Given the description of an element on the screen output the (x, y) to click on. 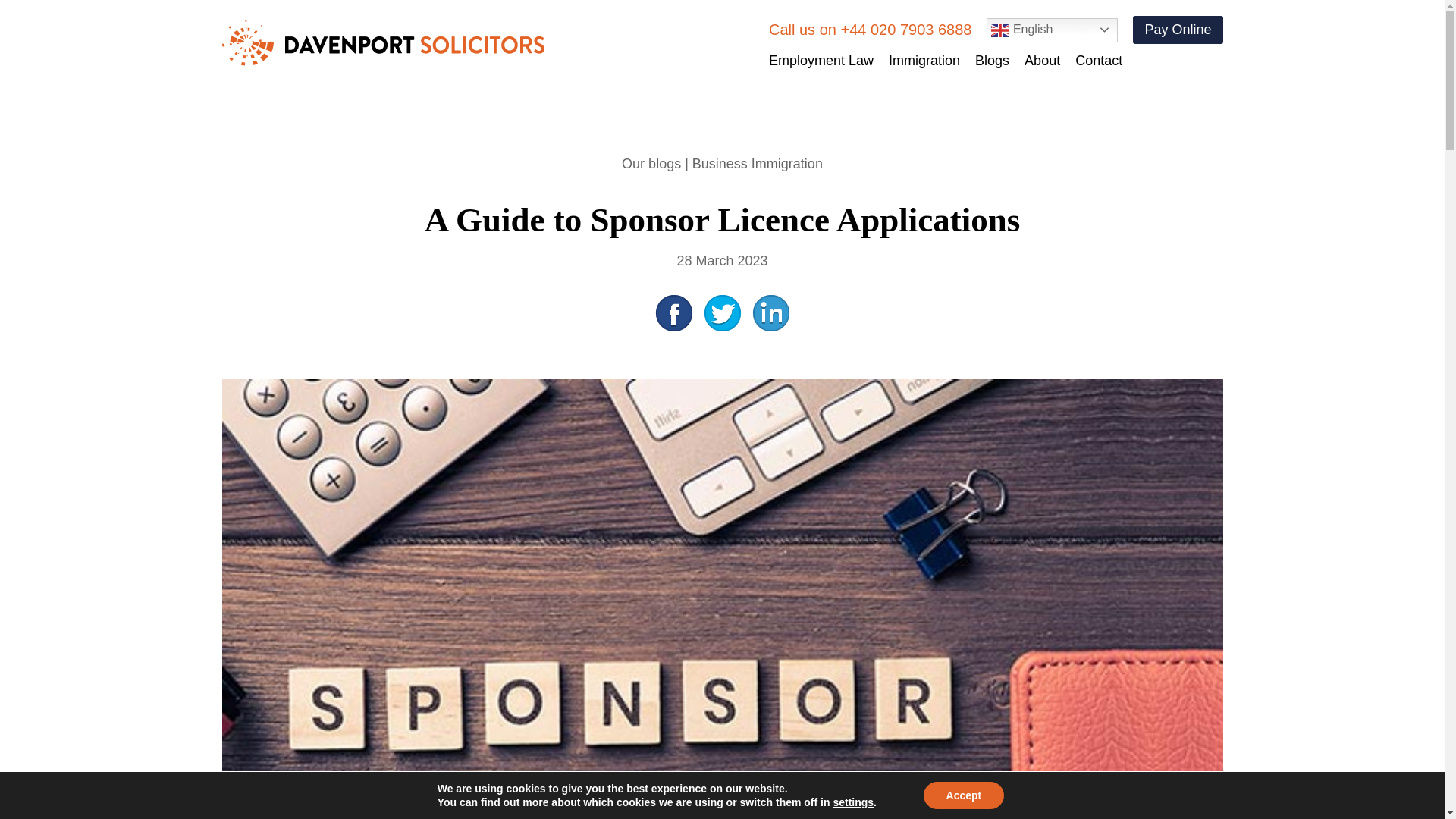
Share on Twitter (721, 311)
Pay Online (1177, 29)
Share on Facebook (673, 311)
Employment Law (820, 60)
Immigration (923, 60)
English (1052, 30)
